Given the description of an element on the screen output the (x, y) to click on. 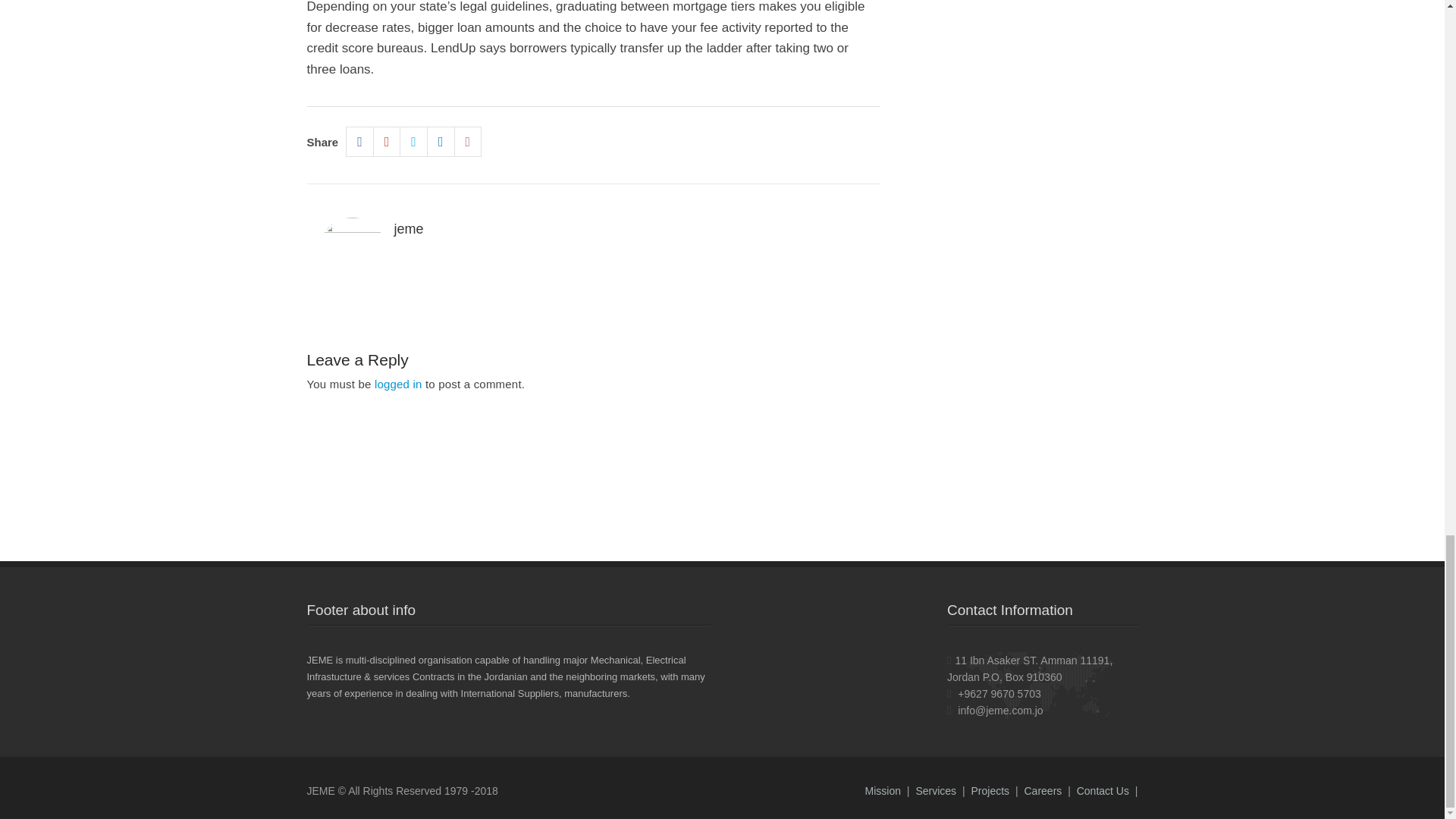
Contact Us (1103, 790)
Projects (990, 790)
Services (935, 790)
Careers (1042, 790)
Mission (881, 790)
logged in (398, 383)
